Given the description of an element on the screen output the (x, y) to click on. 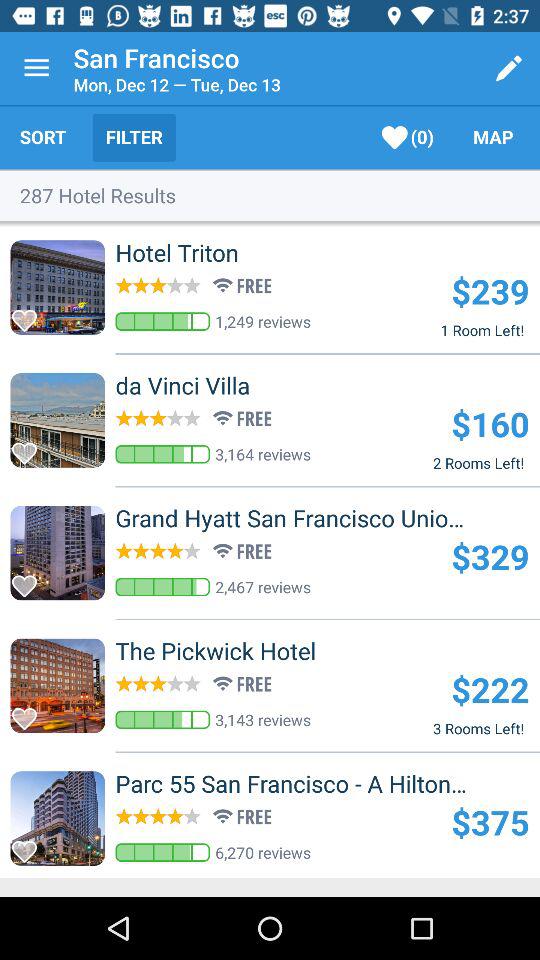
favorite this hotel (30, 314)
